Given the description of an element on the screen output the (x, y) to click on. 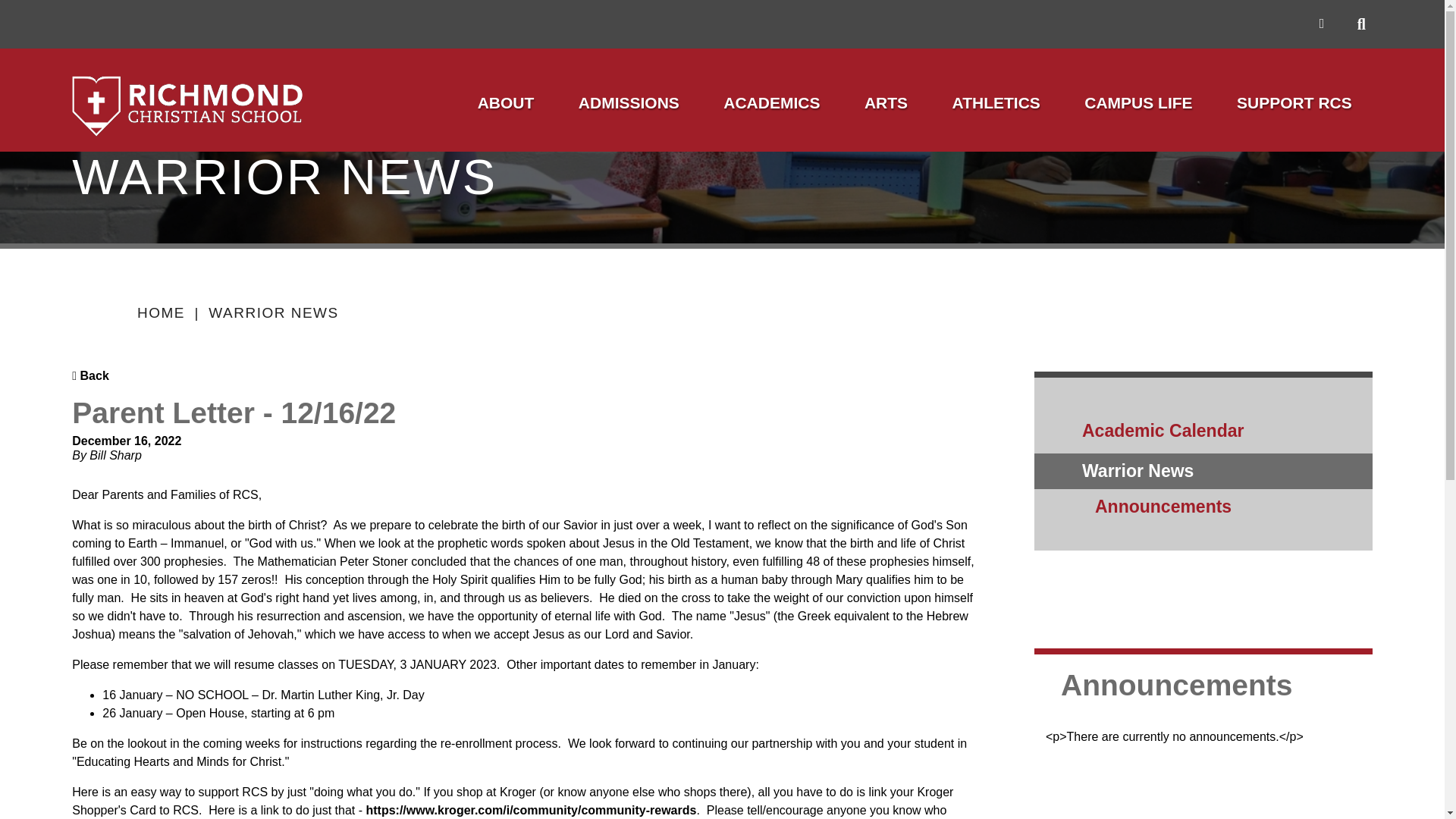
ABOUT (505, 104)
ADMISSIONS (628, 104)
ACADEMICS (771, 104)
ARTS (885, 104)
